Given the description of an element on the screen output the (x, y) to click on. 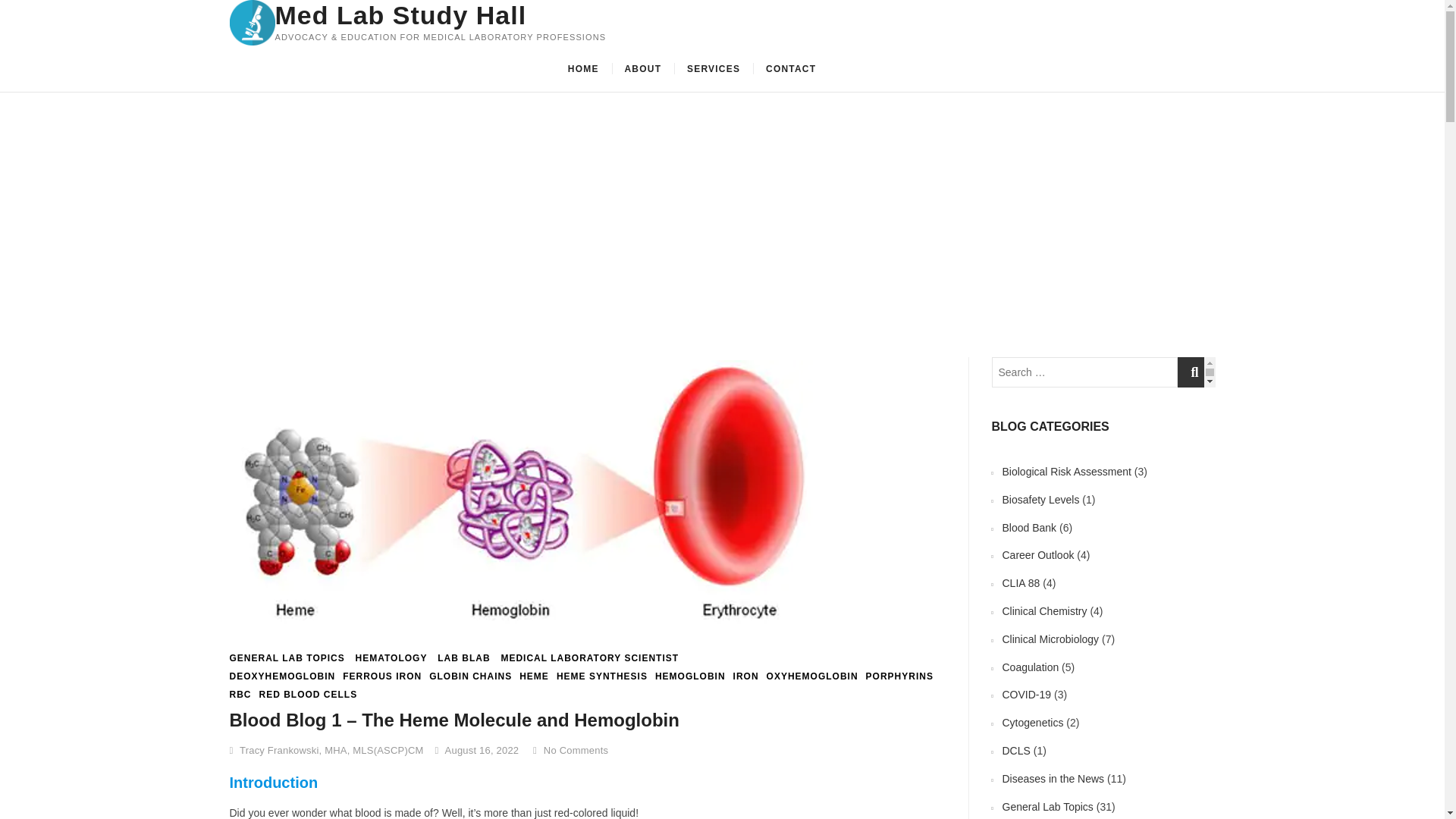
PORPHYRINS (899, 676)
HOME (583, 68)
IRON (745, 676)
RED BLOOD CELLS (308, 694)
SERVICES (713, 68)
HEME (533, 676)
August 16, 2022 (477, 749)
HEMOGLOBIN (690, 676)
DEOXYHEMOGLOBIN (281, 676)
GLOBIN CHAINS (470, 676)
ABOUT (642, 68)
Med Lab Study Hall (440, 15)
MEDICAL LABORATORY SCIENTIST (589, 658)
No Comments (570, 749)
FERROUS IRON (382, 676)
